Given the description of an element on the screen output the (x, y) to click on. 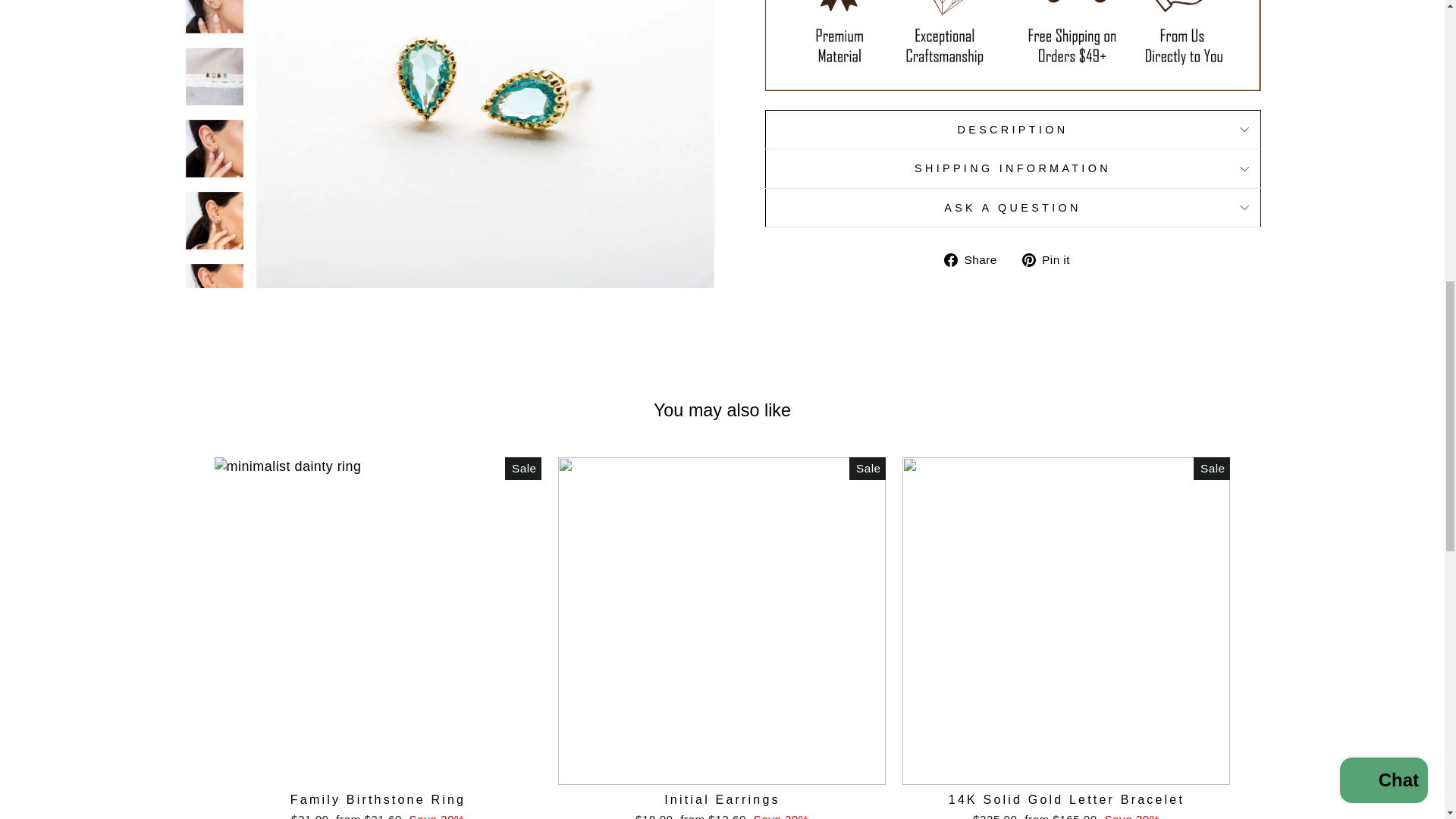
Share on Facebook (976, 259)
Pin on Pinterest (1051, 259)
